Given the description of an element on the screen output the (x, y) to click on. 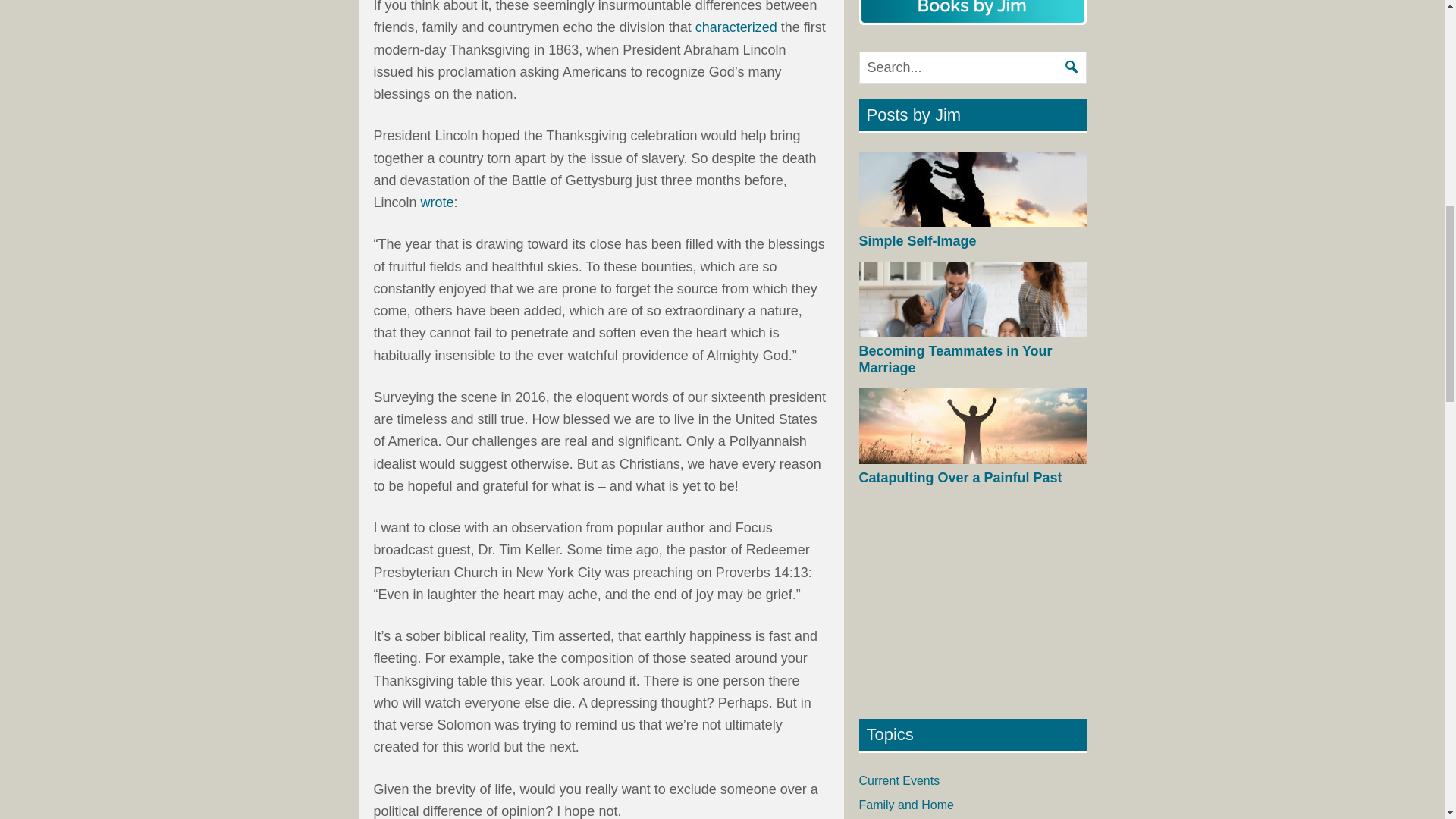
wrote (437, 201)
Family and Home (906, 804)
Becoming Teammates in Your Marriage (955, 359)
Simple Self-Image (917, 240)
Catapulting Over a Painful Past (960, 477)
Current Events (899, 780)
characterized (736, 27)
